Given the description of an element on the screen output the (x, y) to click on. 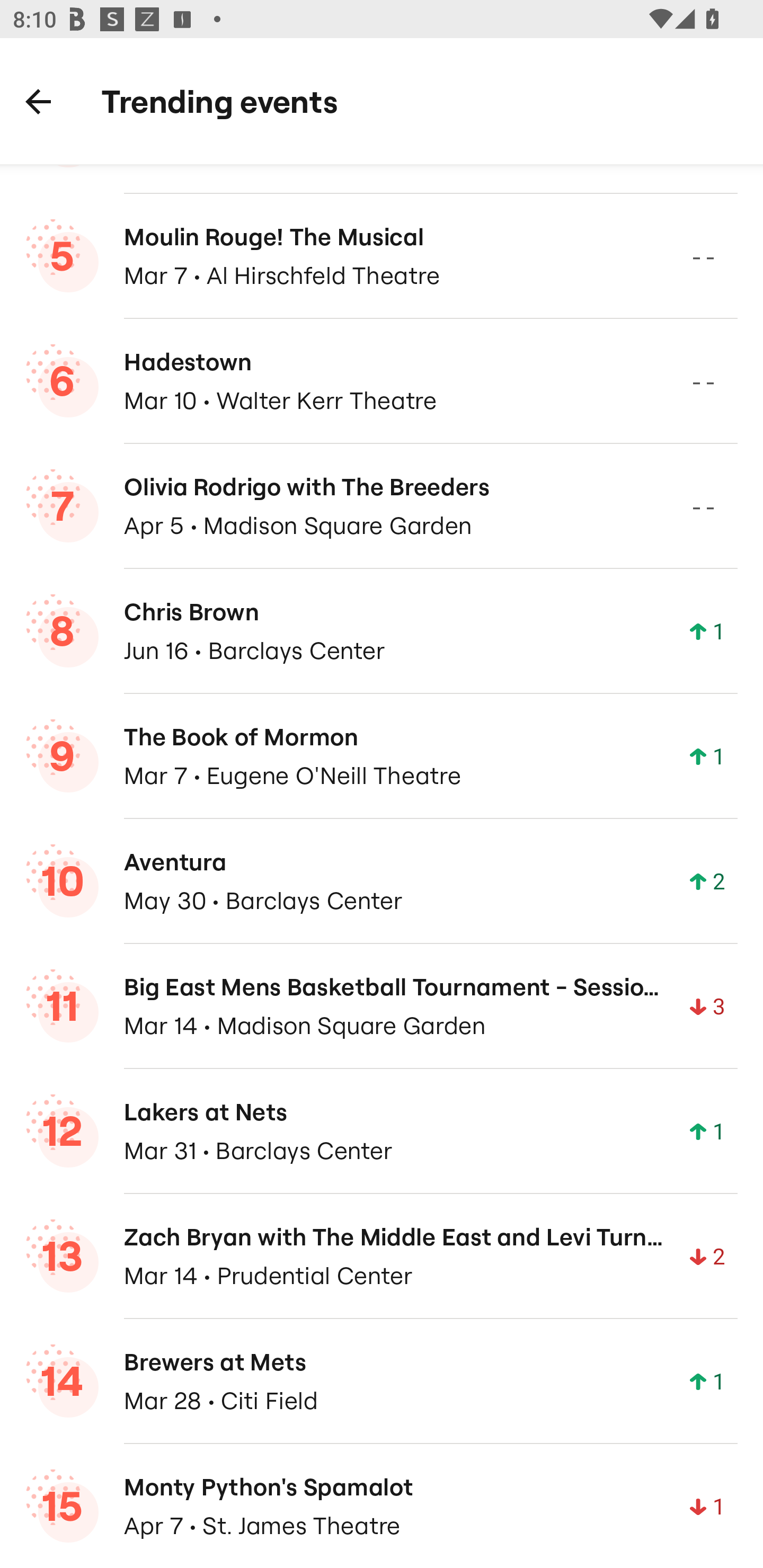
Back (38, 100)
